Given the description of an element on the screen output the (x, y) to click on. 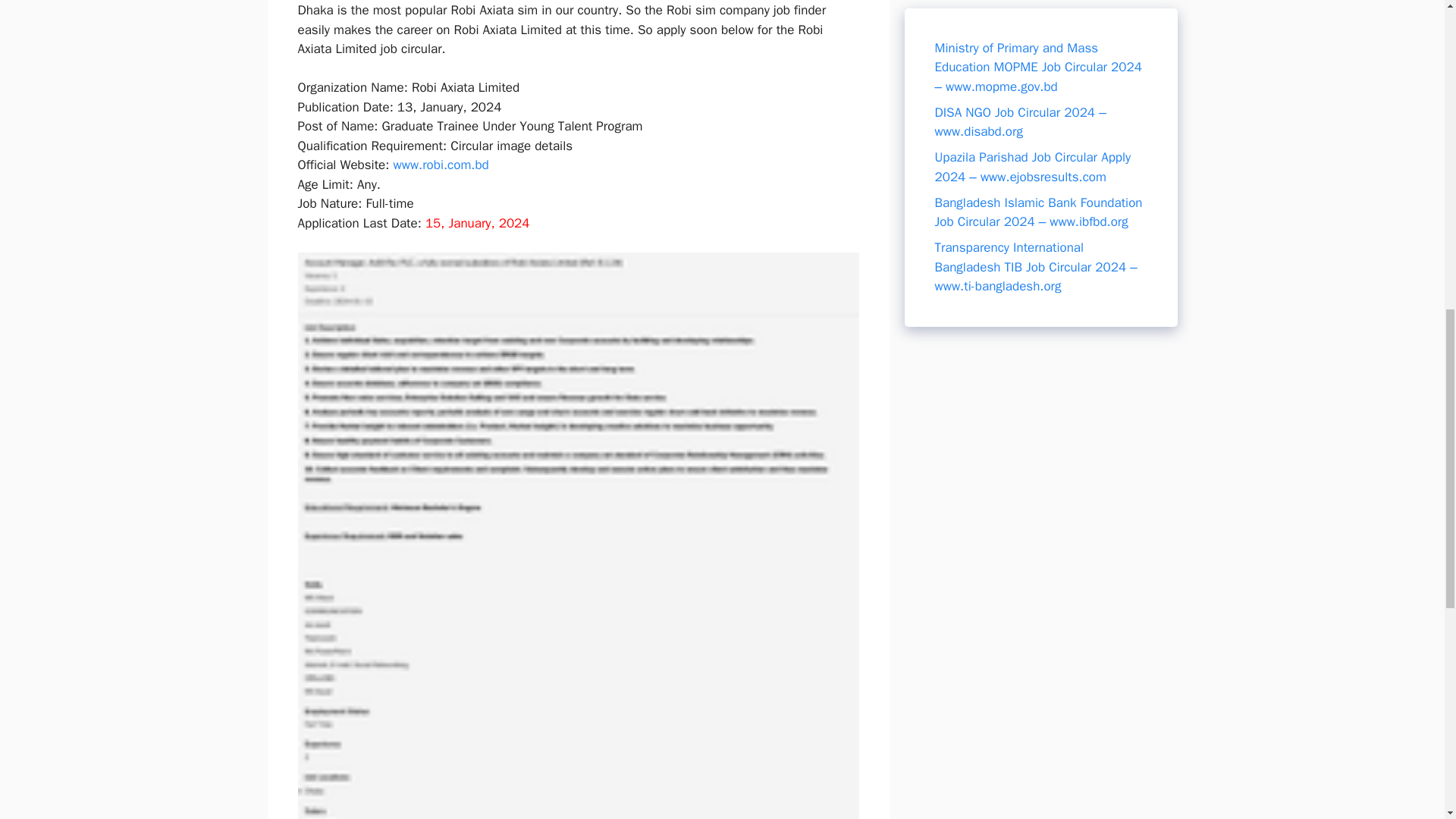
Scroll back to top (1406, 720)
www.robi.com.bd (440, 164)
